Given the description of an element on the screen output the (x, y) to click on. 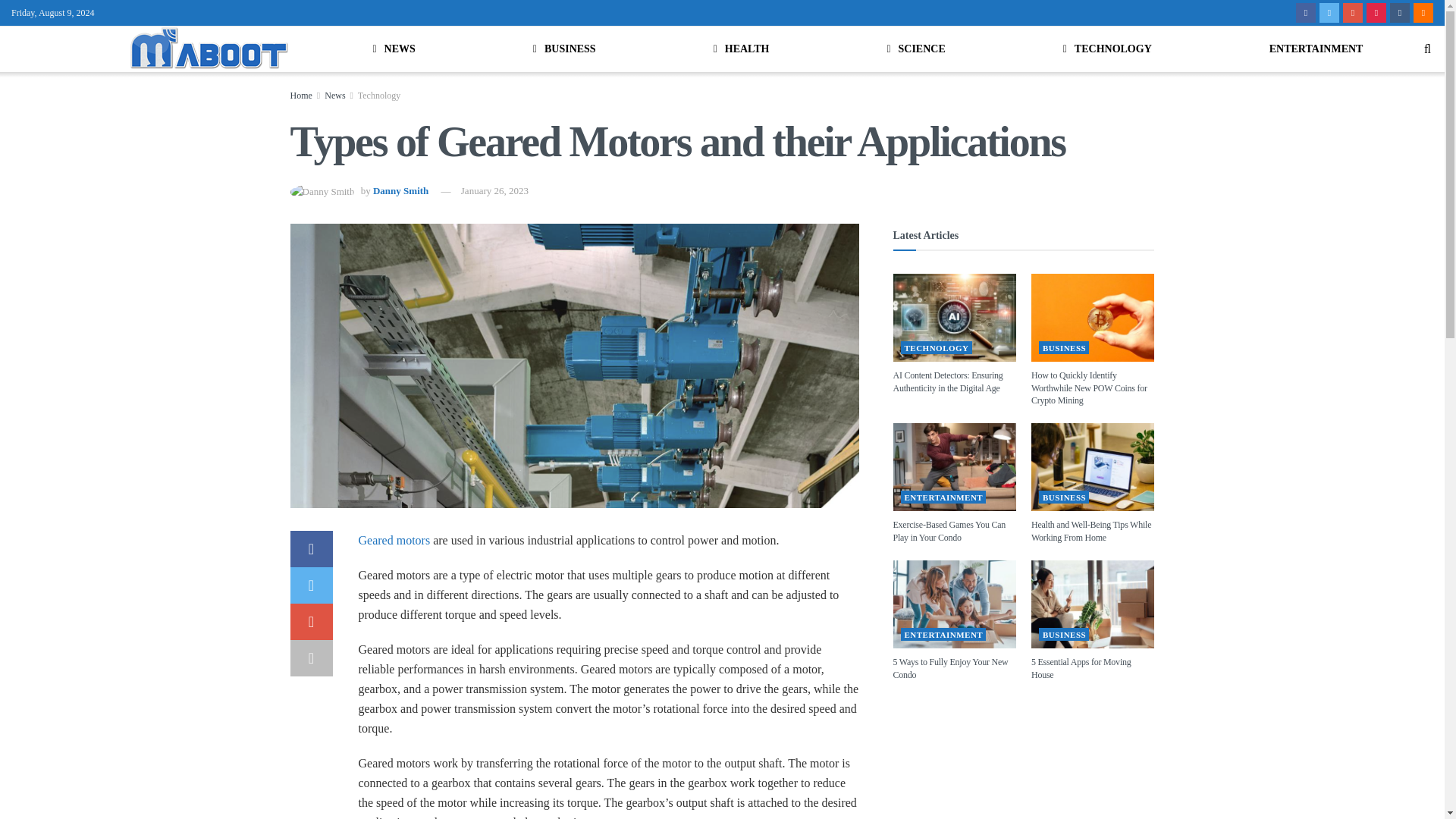
SCIENCE (916, 49)
ENTERTAINMENT (1315, 49)
Technology (379, 95)
NEWS (394, 49)
January 26, 2023 (494, 190)
Home (300, 95)
BUSINESS (563, 49)
TECHNOLOGY (1106, 49)
Geared motors (393, 540)
HEALTH (740, 49)
